Given the description of an element on the screen output the (x, y) to click on. 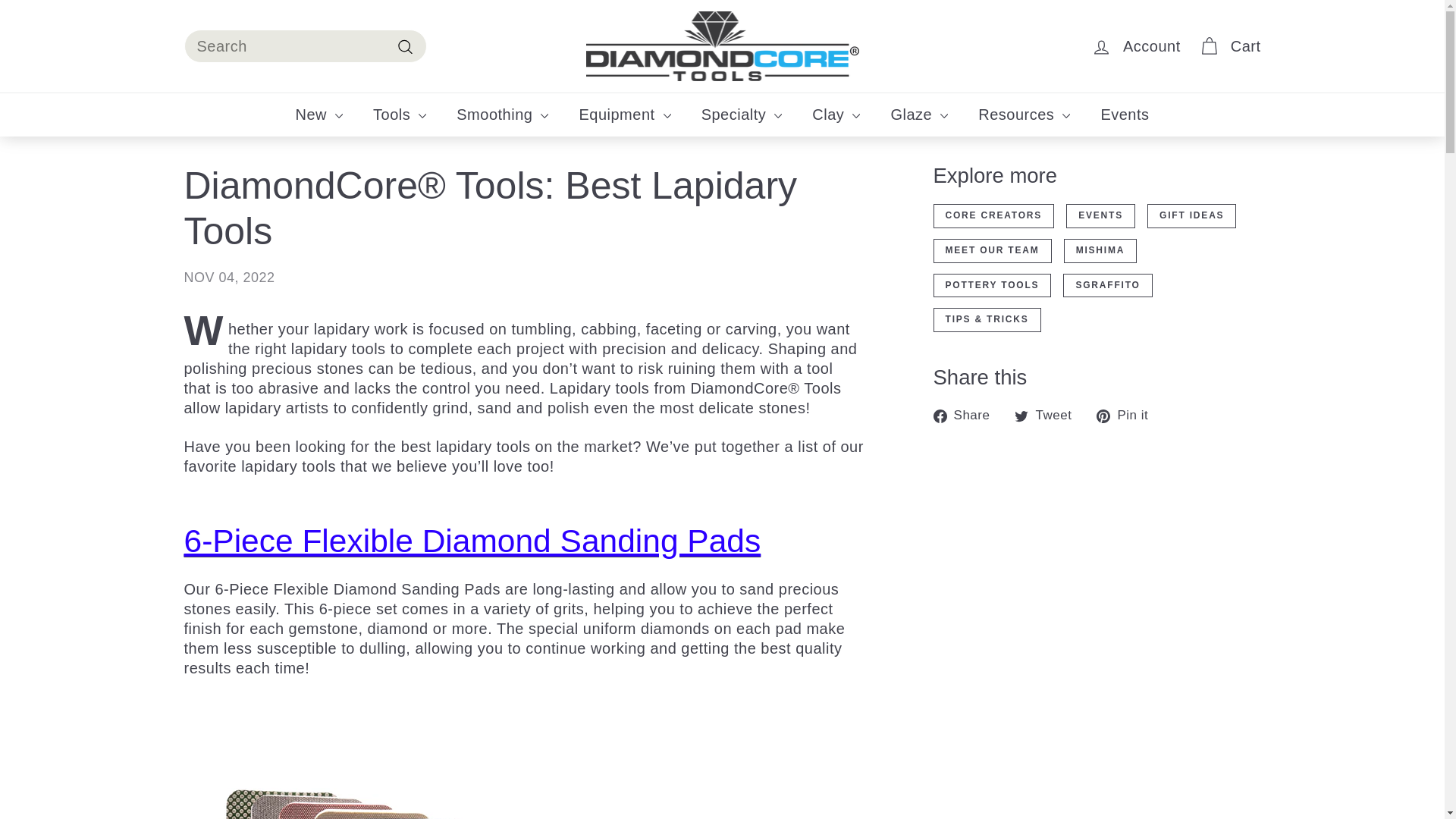
twitter (1020, 416)
Cart (1229, 45)
Account (1135, 46)
Tweet on Twitter (1048, 414)
Pin on Pinterest (1127, 414)
Share on Facebook (967, 414)
